Given the description of an element on the screen output the (x, y) to click on. 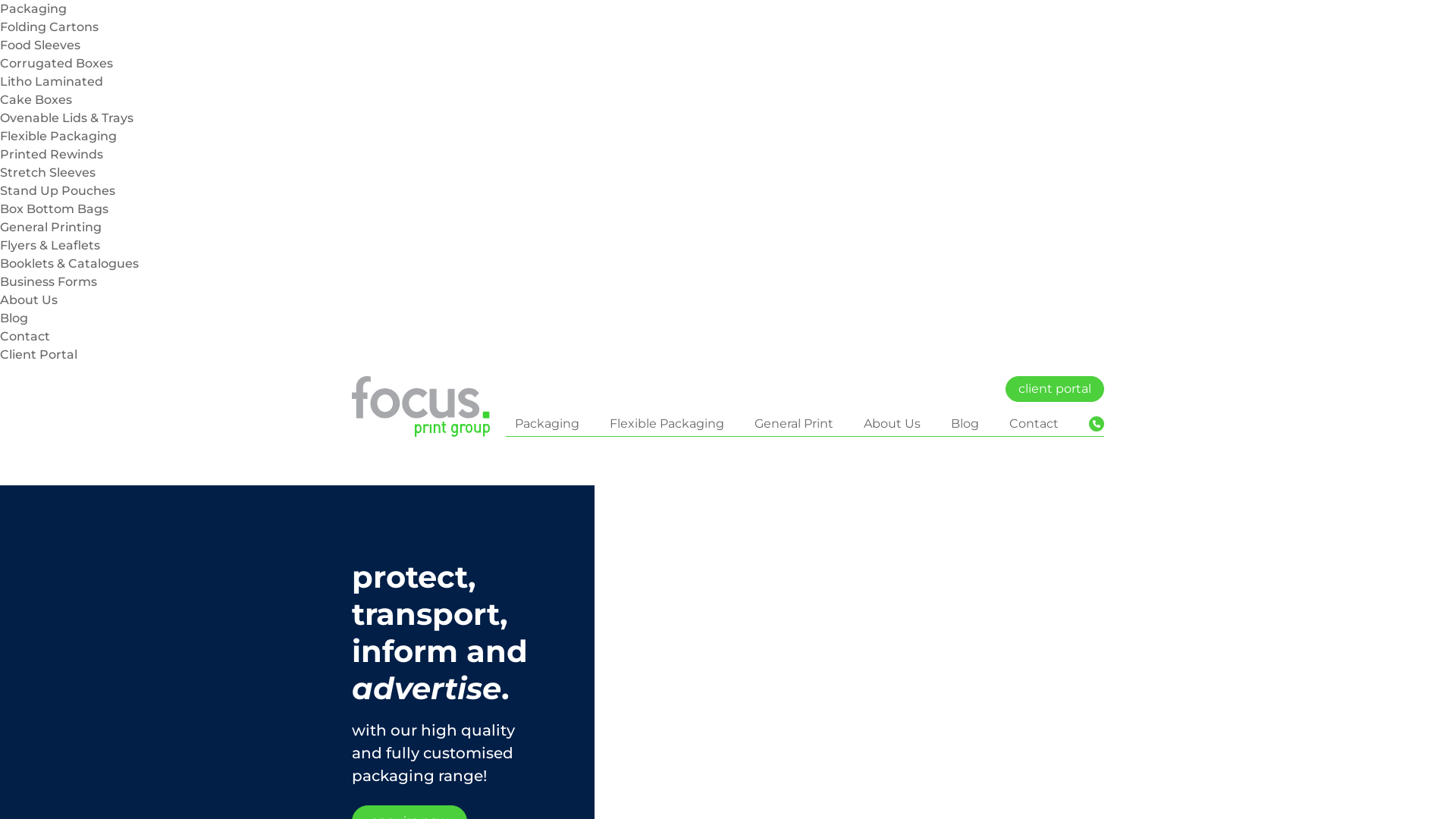
Packaging Element type: text (546, 423)
Contact Element type: text (1033, 423)
Folding Cartons Element type: text (49, 26)
Food Sleeves Element type: text (40, 44)
Flexible Packaging Element type: text (666, 423)
Printed Rewinds Element type: text (51, 154)
Stand Up Pouches Element type: text (57, 190)
Packaging Element type: text (33, 8)
General Printing Element type: text (50, 226)
Stretch Sleeves Element type: text (47, 172)
FOCUS PRINT GROUP Element type: hover (420, 406)
Blog Element type: text (964, 423)
Flexible Packaging Element type: text (58, 135)
General Print Element type: text (793, 423)
Business Forms Element type: text (48, 281)
Litho Laminated Element type: text (51, 81)
Corrugated Boxes Element type: text (56, 63)
Contact Element type: text (25, 336)
Blog Element type: text (14, 317)
Cake Boxes Element type: text (36, 99)
About Us Element type: text (28, 299)
client portal Element type: text (1054, 388)
Client Portal Element type: text (38, 354)
Flyers & Leaflets Element type: text (50, 245)
Booklets & Catalogues Element type: text (69, 263)
Box Bottom Bags Element type: text (54, 208)
About Us Element type: text (891, 423)
Ovenable Lids & Trays Element type: text (66, 117)
